Given the description of an element on the screen output the (x, y) to click on. 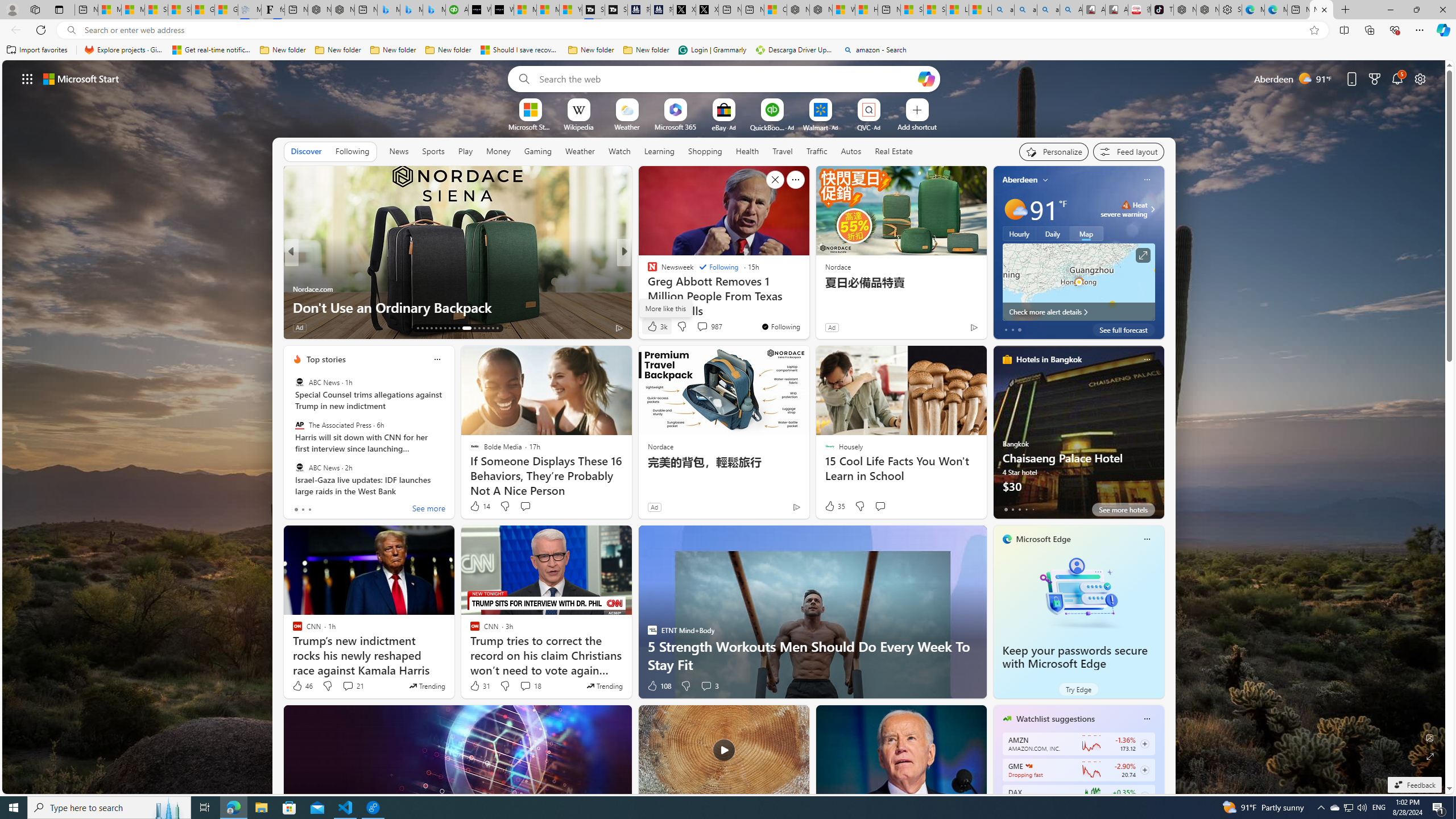
Heat - Severe Heat severe warning (1123, 208)
Daily (1052, 233)
View comments 18 Comment (525, 685)
Real Estate (893, 151)
View comments 17 Comment (707, 327)
Expand background (1430, 756)
See more (428, 509)
Sports (432, 151)
Class: follow-button  m (1144, 795)
amazon - Search (875, 49)
GAMESTOP CORP. (1028, 765)
Gaming (537, 151)
